Given the description of an element on the screen output the (x, y) to click on. 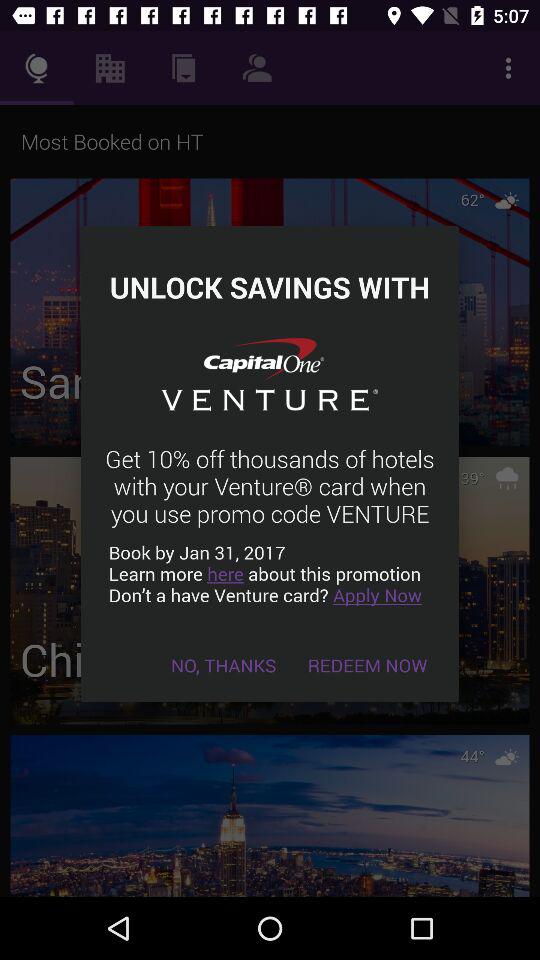
choose the item next to redeem now (223, 664)
